Given the description of an element on the screen output the (x, y) to click on. 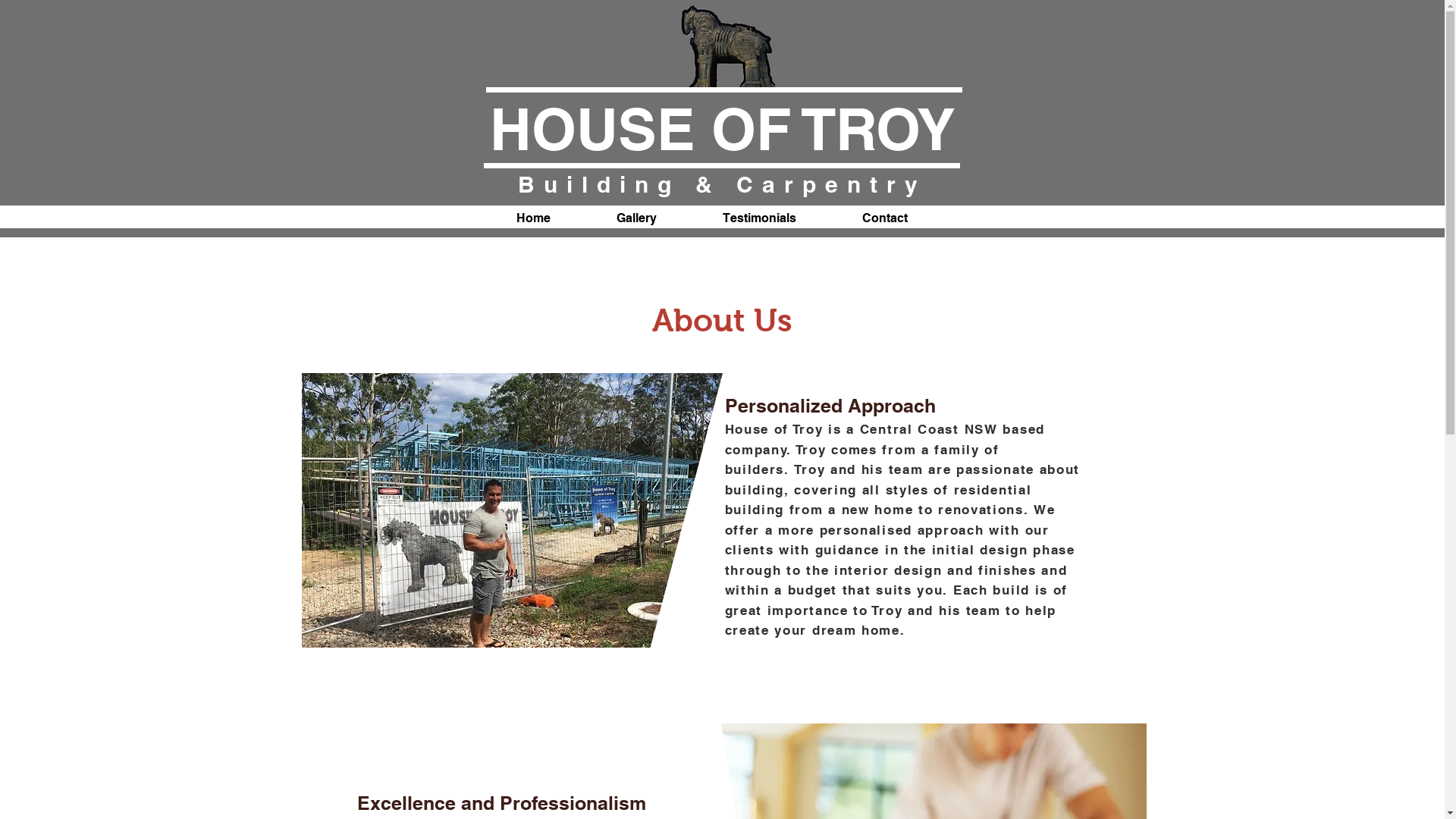
Gallery Element type: text (636, 217)
Home Element type: text (533, 217)
Contact Element type: text (885, 217)
Testimonials Element type: text (759, 217)
